Given the description of an element on the screen output the (x, y) to click on. 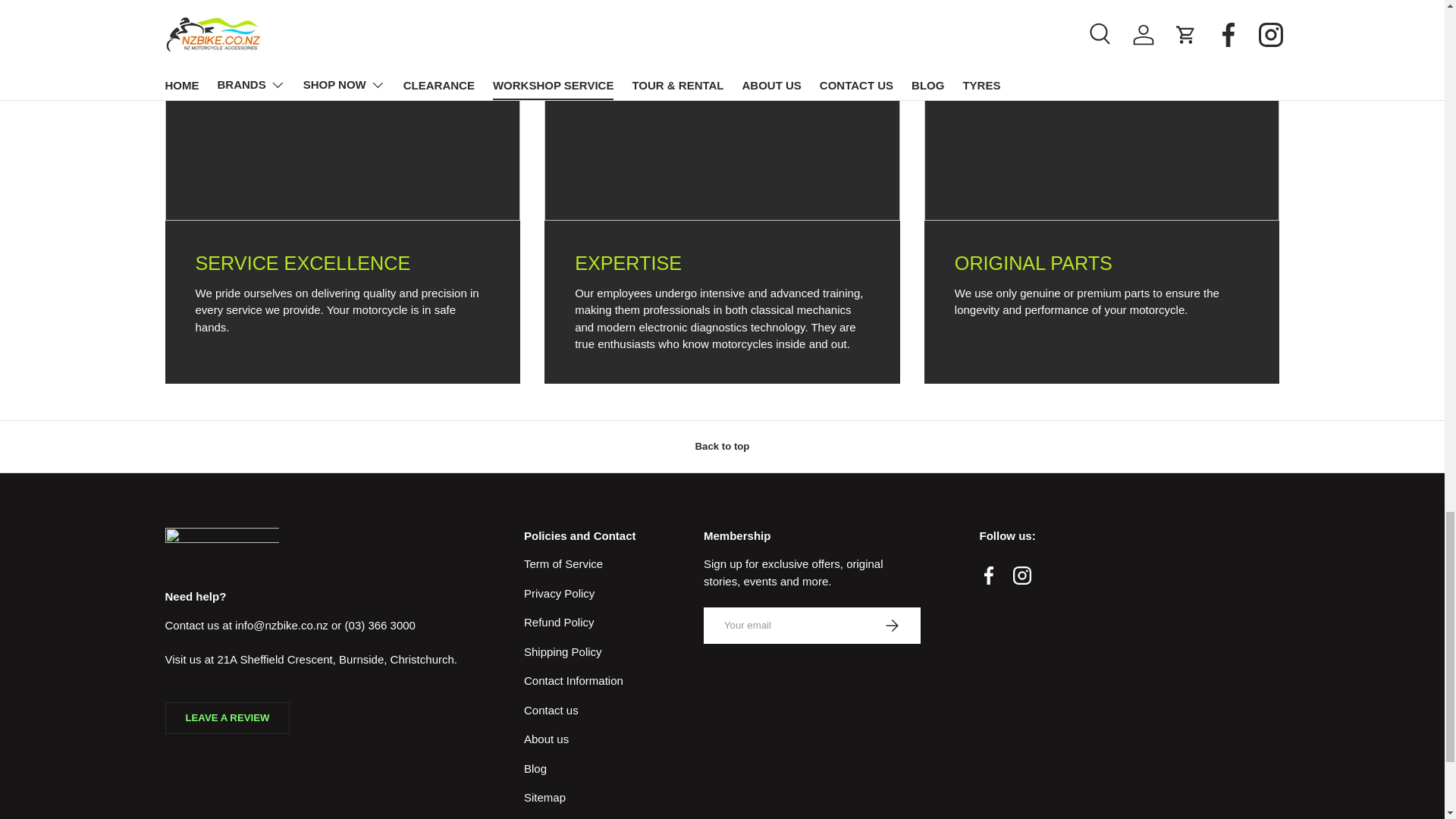
21A Sheffield Crescent, Burnside, Christchurch (334, 658)
